Given the description of an element on the screen output the (x, y) to click on. 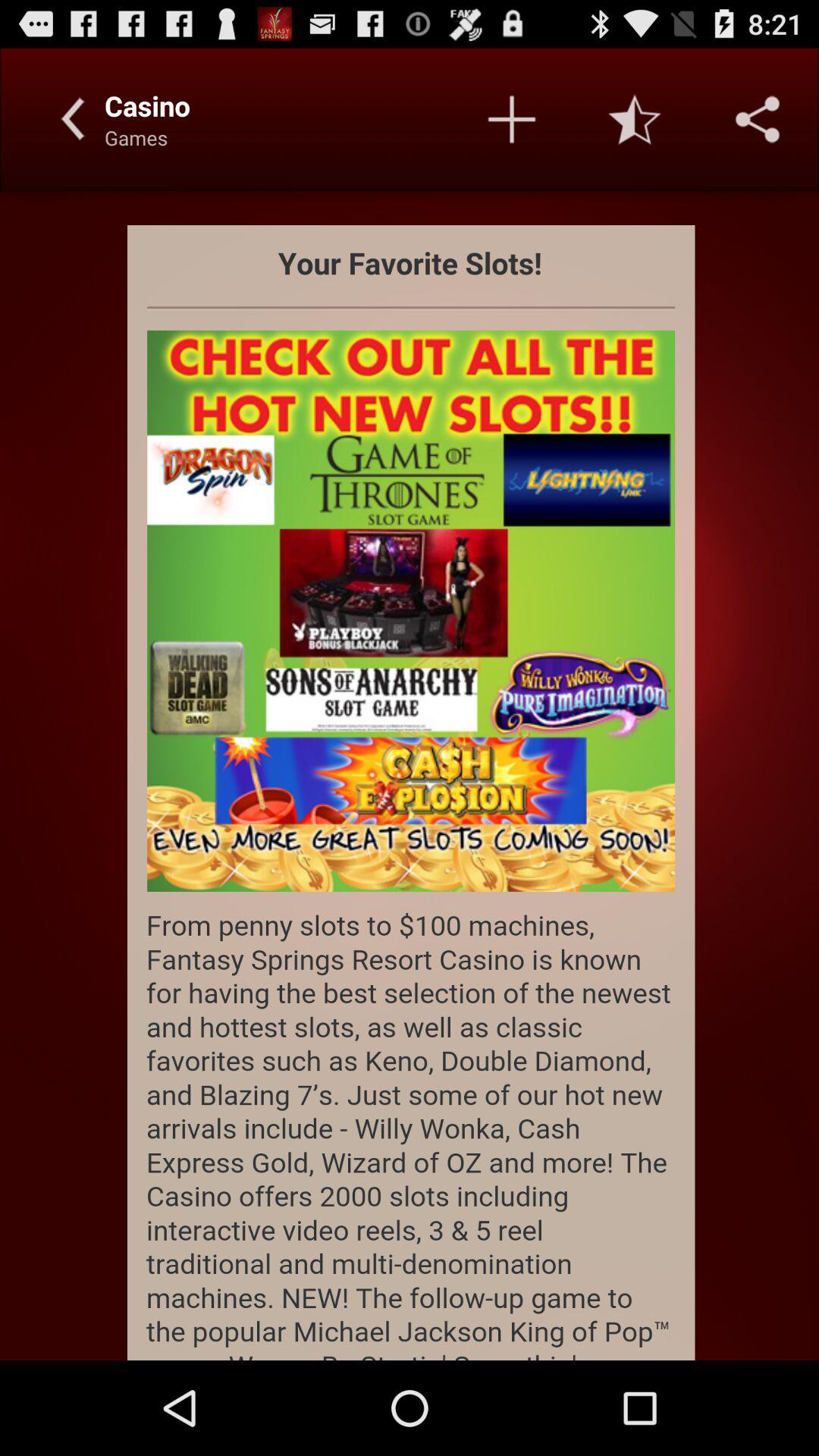
settings (757, 119)
